Given the description of an element on the screen output the (x, y) to click on. 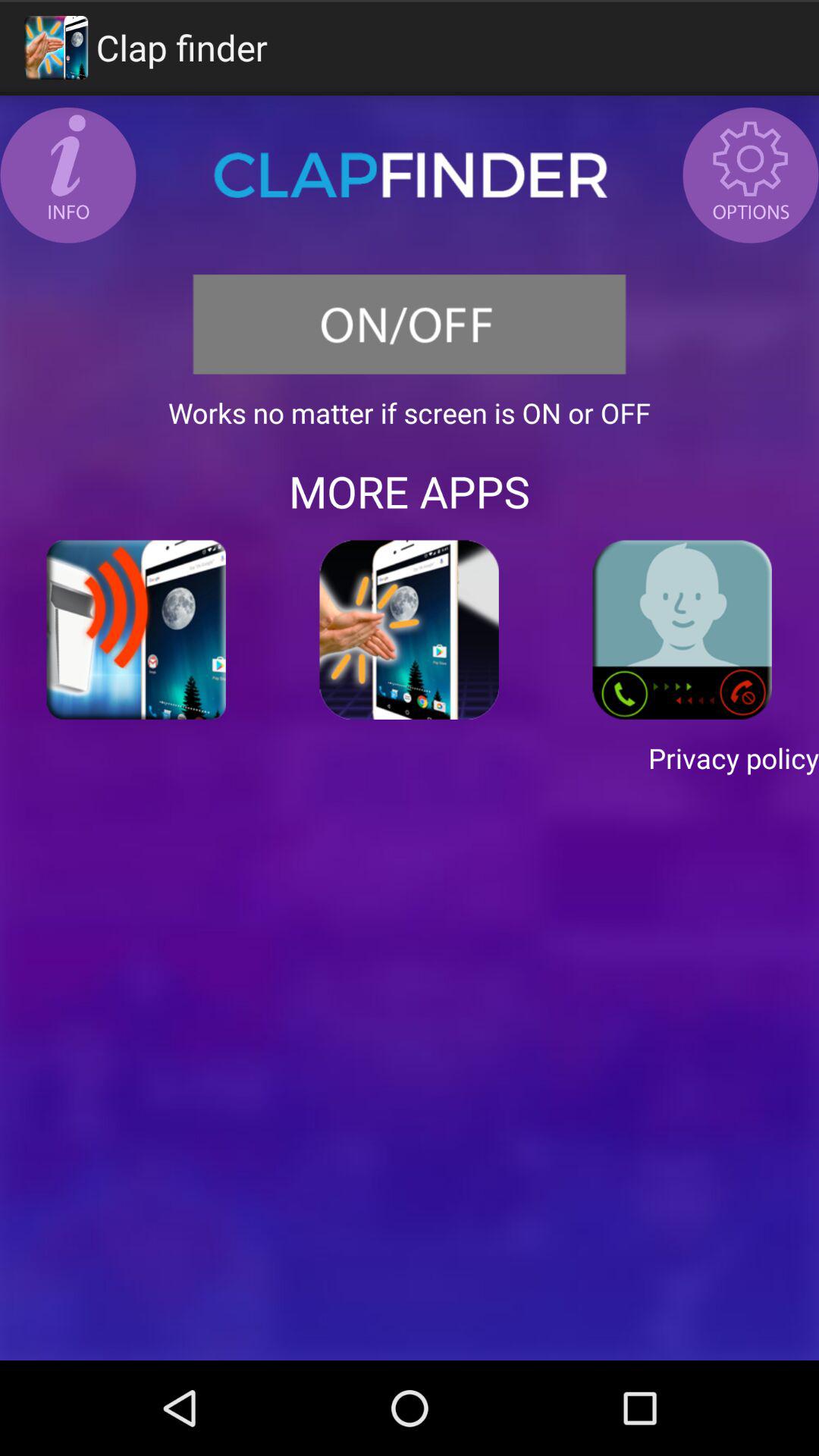
turn off the icon below more apps item (682, 629)
